Given the description of an element on the screen output the (x, y) to click on. 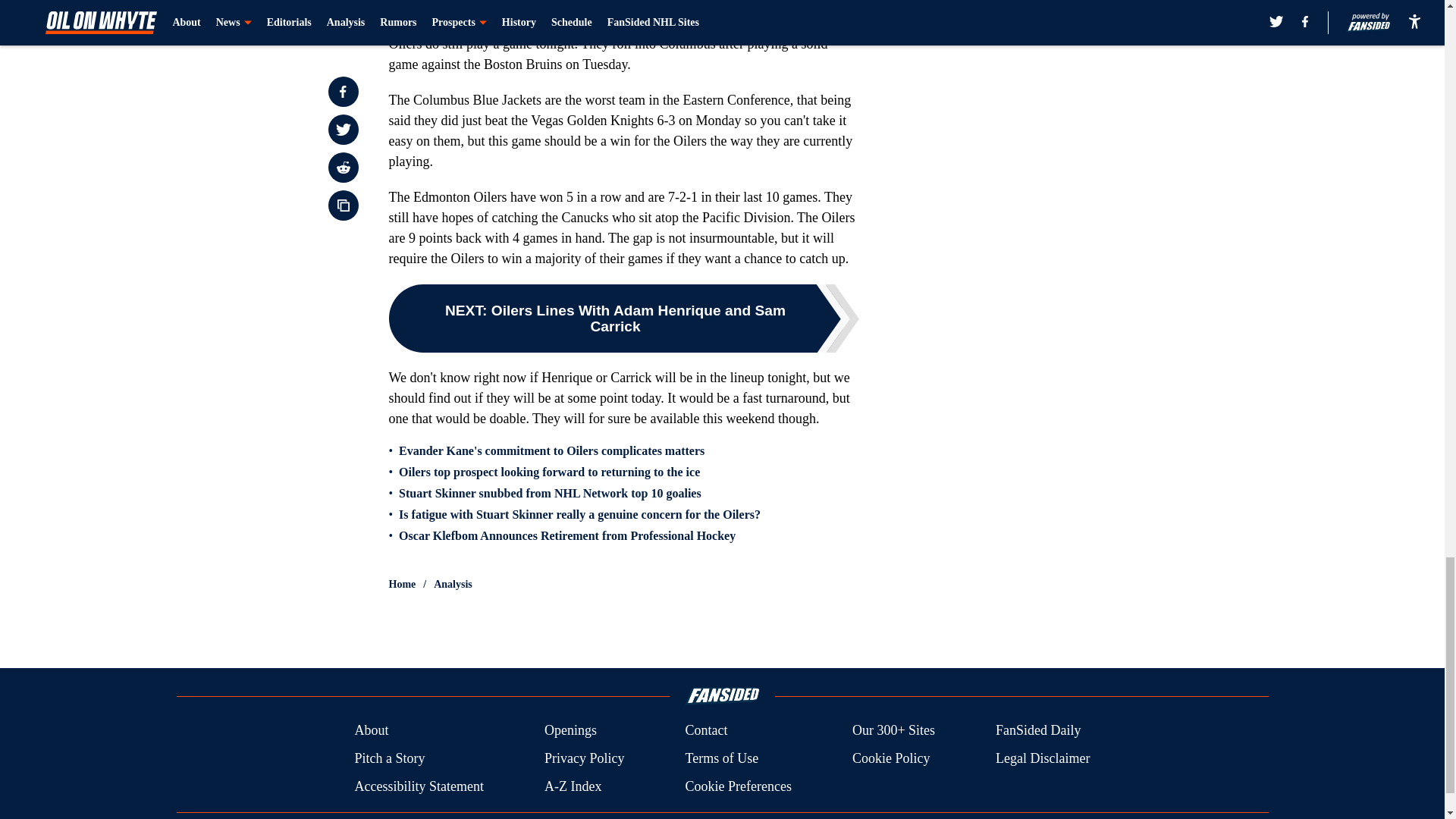
NEXT: Oilers Lines With Adam Henrique and Sam Carrick (623, 318)
Evander Kane's commitment to Oilers complicates matters (551, 450)
Contact (705, 730)
Home (401, 584)
Oilers top prospect looking forward to returning to the ice (549, 472)
Analysis (452, 584)
Openings (570, 730)
Oscar Klefbom Announces Retirement from Professional Hockey (566, 535)
Stuart Skinner snubbed from NHL Network top 10 goalies (549, 493)
About (370, 730)
